Given the description of an element on the screen output the (x, y) to click on. 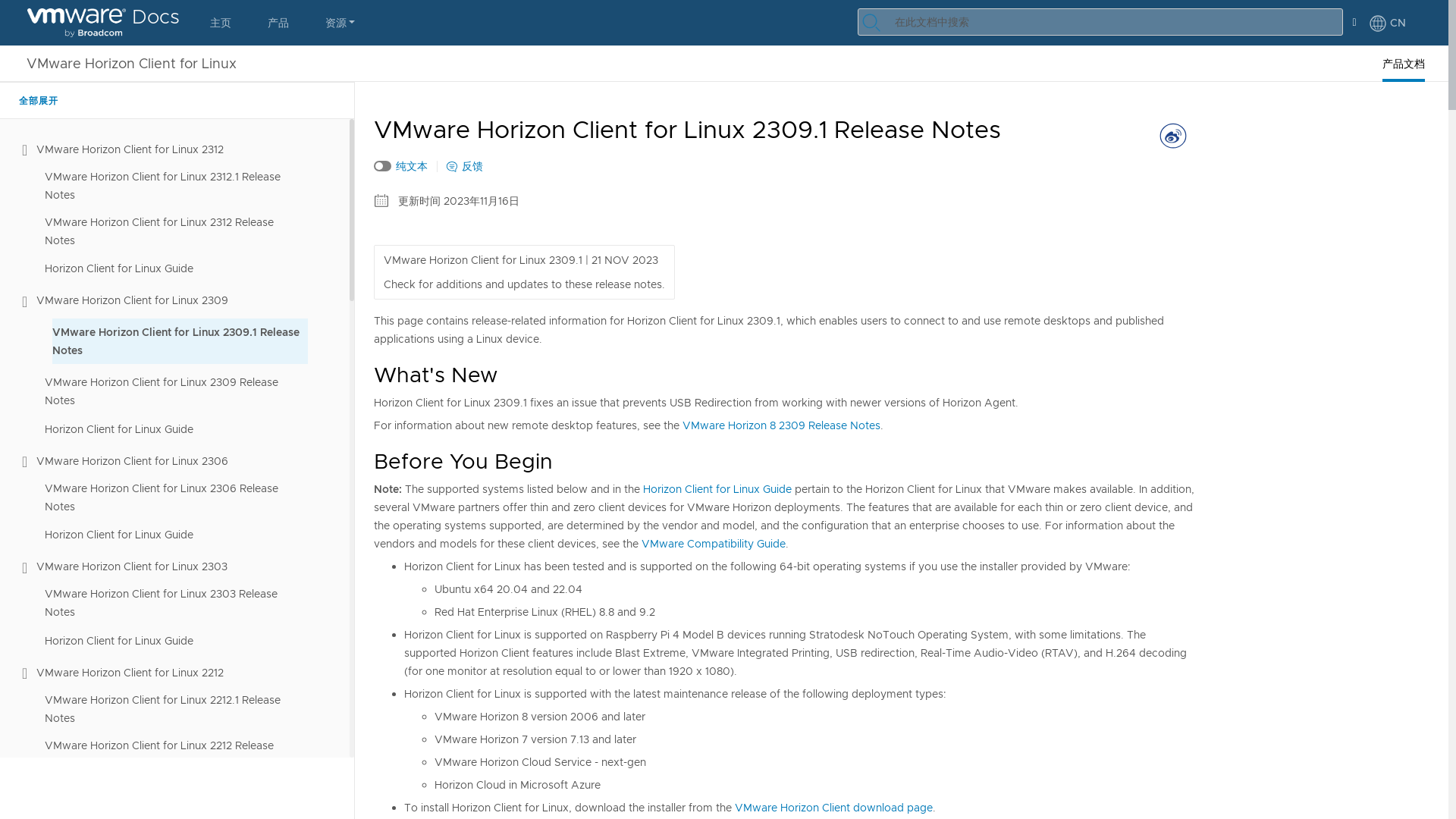
Docs (103, 22)
